Given the description of an element on the screen output the (x, y) to click on. 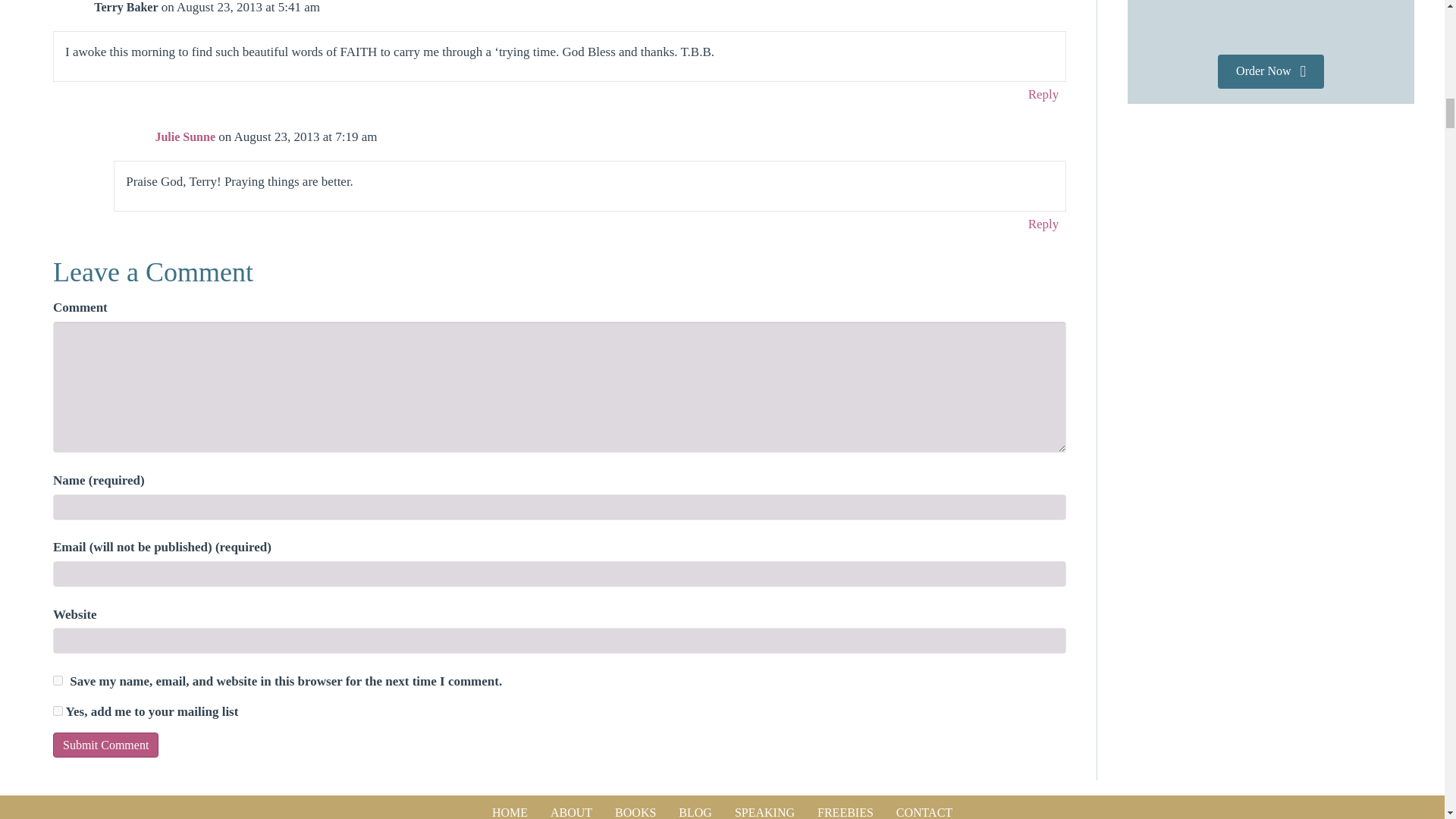
Submit Comment (105, 744)
Julie Sunne (184, 136)
1 (57, 710)
yes (57, 680)
Reply (1043, 223)
Reply (1043, 94)
Submit Comment (105, 744)
